Given the description of an element on the screen output the (x, y) to click on. 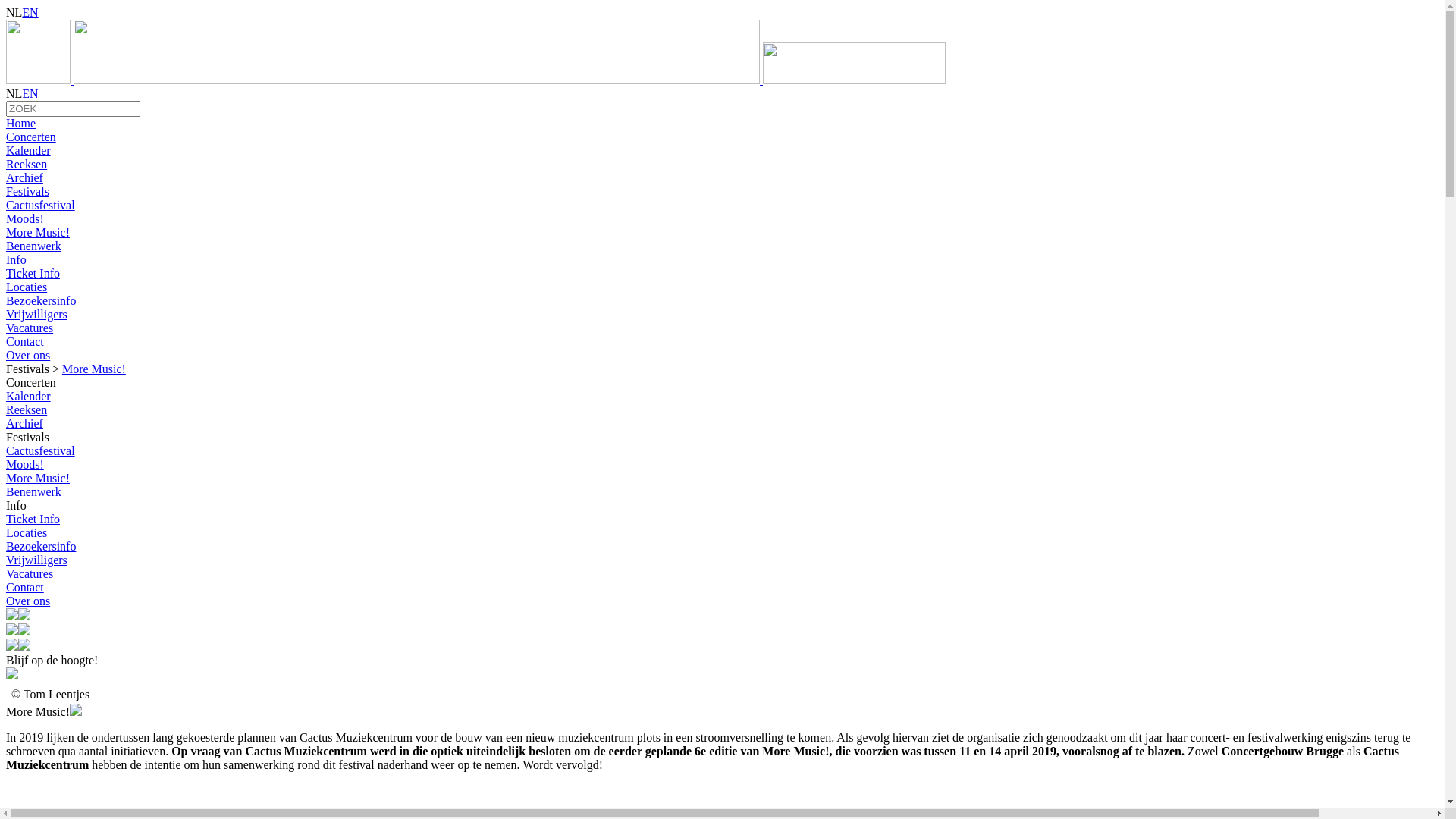
Ticket Info Element type: text (32, 518)
Bezoekersinfo Element type: text (722, 300)
Contact Element type: text (722, 341)
Info Element type: text (722, 259)
Over ons Element type: text (722, 355)
Archief Element type: text (24, 423)
Vrijwilligers Element type: text (36, 559)
Reeksen Element type: text (26, 409)
Reeksen Element type: text (722, 164)
Benenwerk Element type: text (722, 246)
Kalender Element type: text (28, 395)
Bezoekersinfo Element type: text (40, 545)
Concerten Element type: text (722, 137)
EN Element type: text (29, 93)
More Music! Element type: text (722, 232)
Ticket Info Element type: text (722, 273)
More Music! Element type: text (37, 477)
Moods! Element type: text (24, 464)
Moods! Element type: text (722, 218)
Locaties Element type: text (26, 532)
Benenwerk Element type: text (33, 491)
Vacatures Element type: text (29, 573)
Vacatures Element type: text (722, 328)
Cactusfestival Element type: text (722, 205)
EN Element type: text (29, 12)
Archief Element type: text (722, 178)
Over ons Element type: text (28, 600)
Kalender Element type: text (722, 150)
Vrijwilligers Element type: text (722, 314)
Festivals Element type: text (722, 191)
More Music! Element type: text (93, 368)
Home Element type: text (722, 123)
Locaties Element type: text (722, 287)
Contact Element type: text (24, 586)
Cactusfestival Element type: text (40, 450)
